Given the description of an element on the screen output the (x, y) to click on. 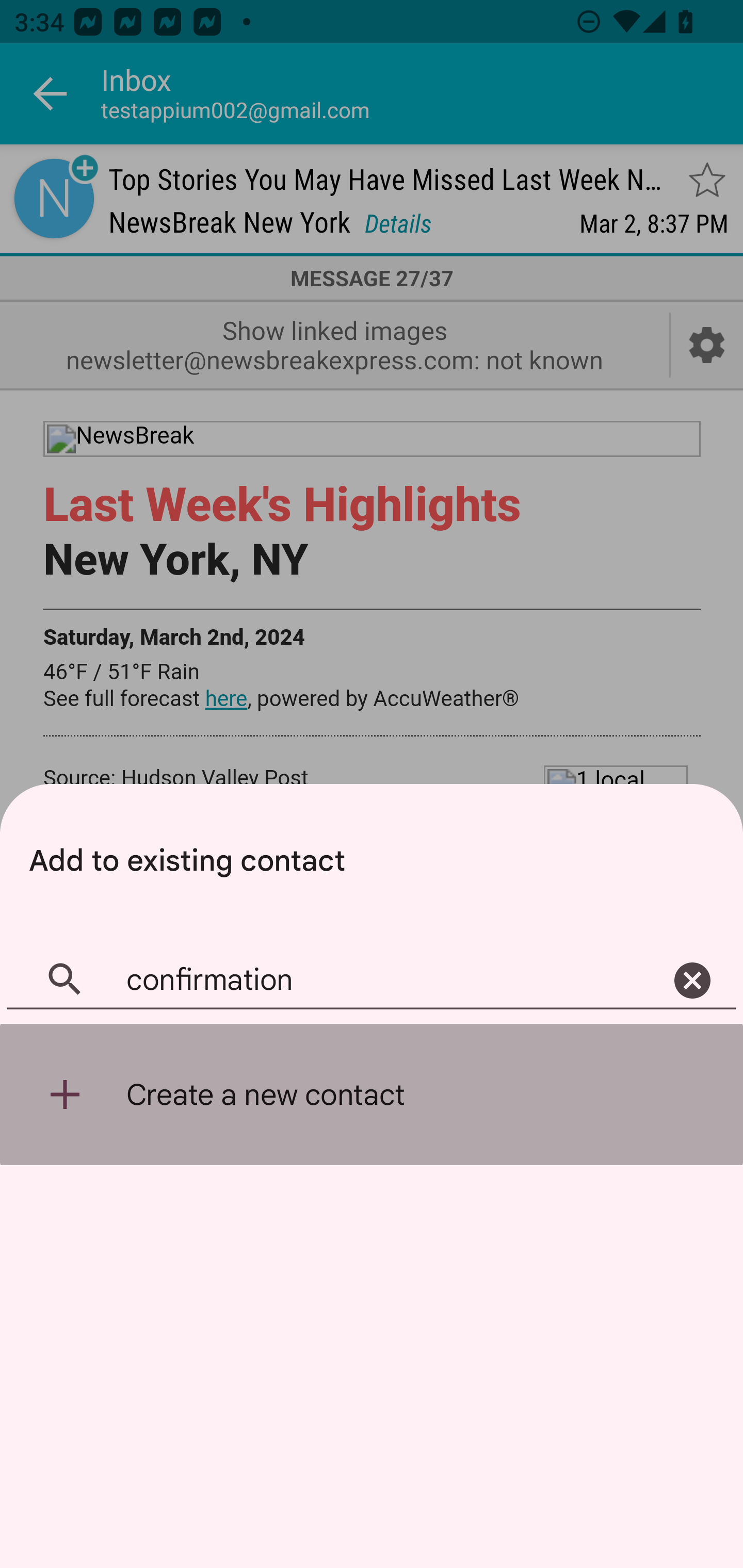
confirmation (371, 980)
Clear search (692, 980)
Create a new contact (371, 1094)
